Given the description of an element on the screen output the (x, y) to click on. 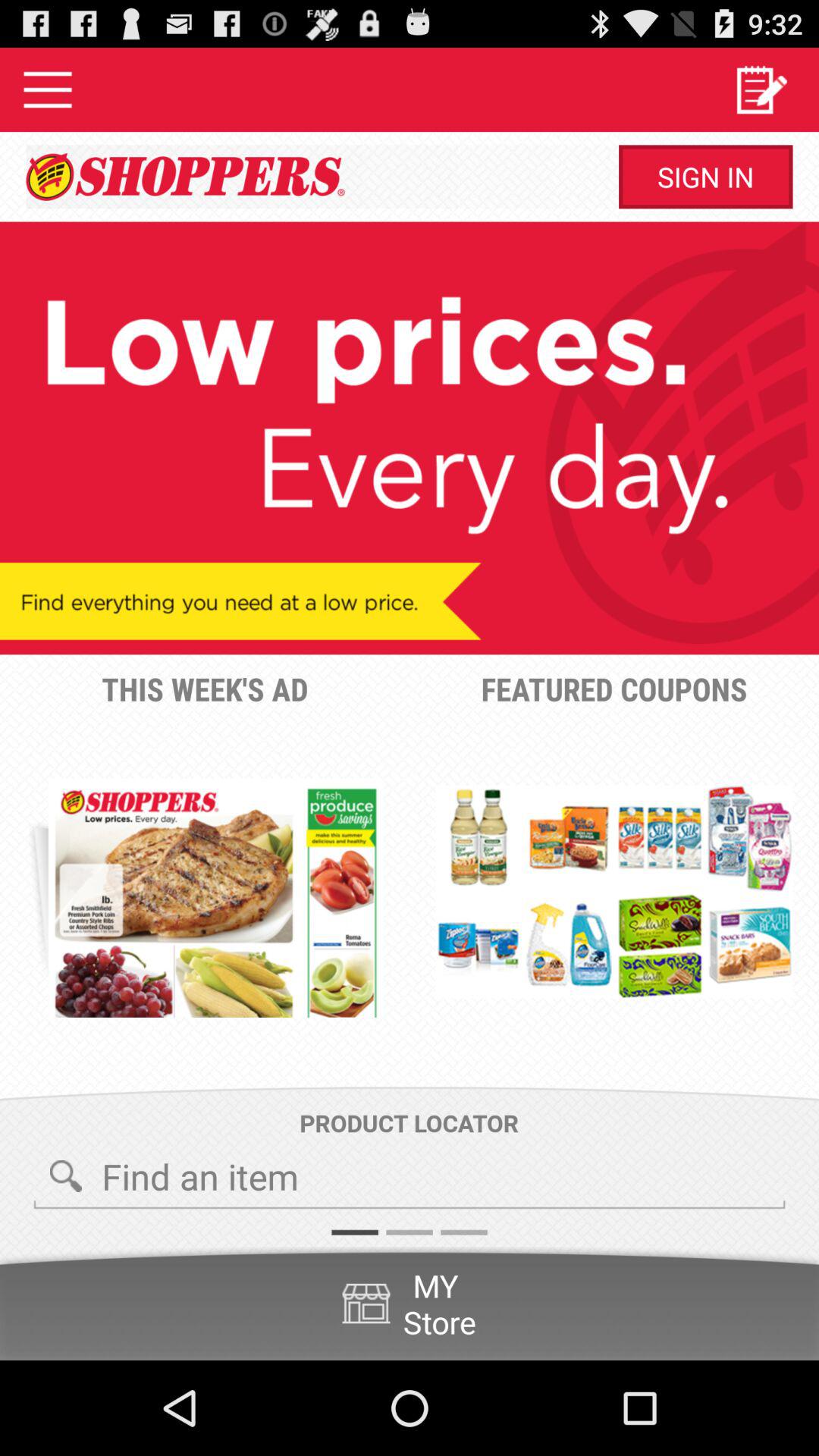
open main menu (47, 89)
